Given the description of an element on the screen output the (x, y) to click on. 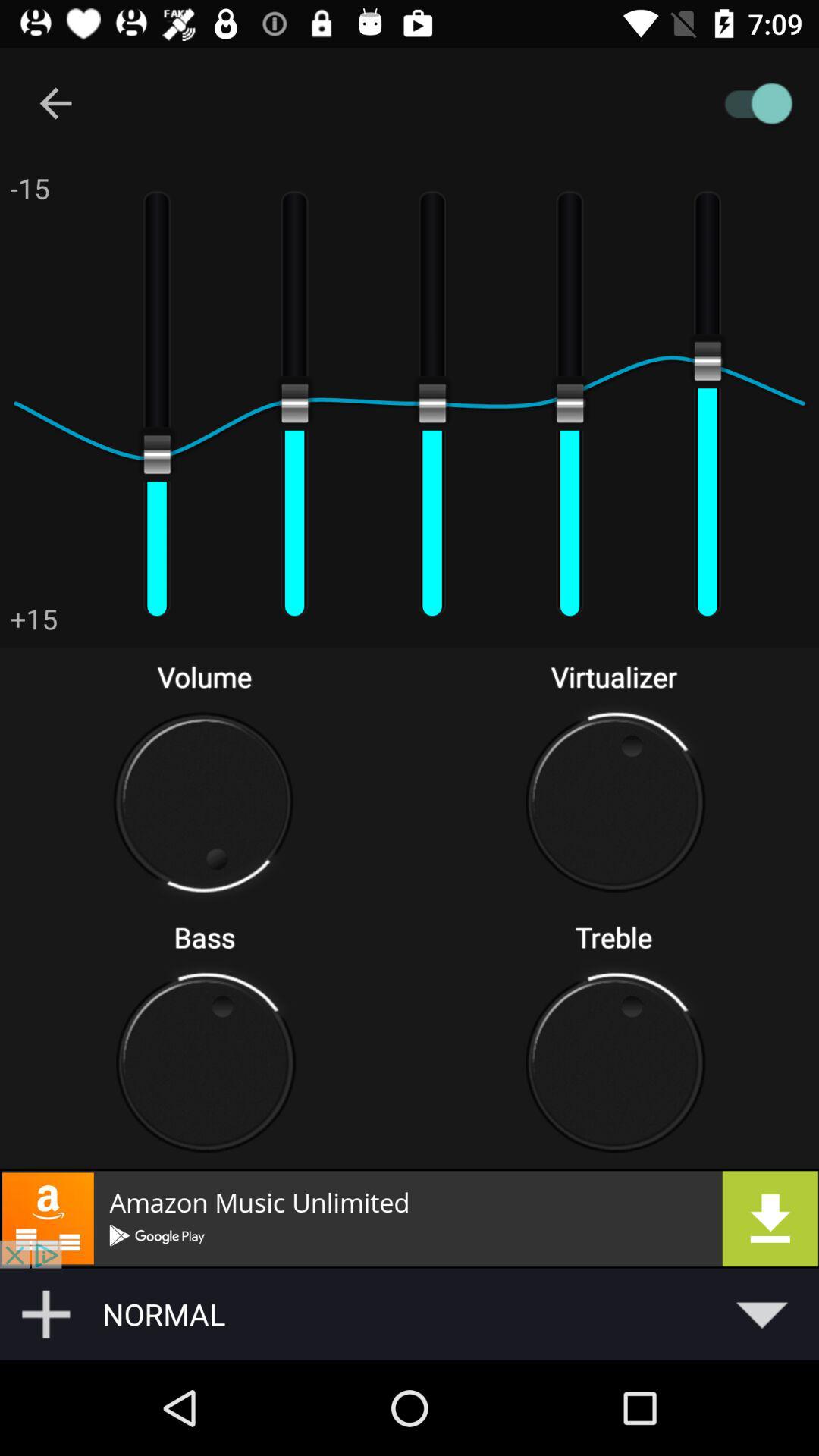
toggles audio on/off (481, 103)
